Given the description of an element on the screen output the (x, y) to click on. 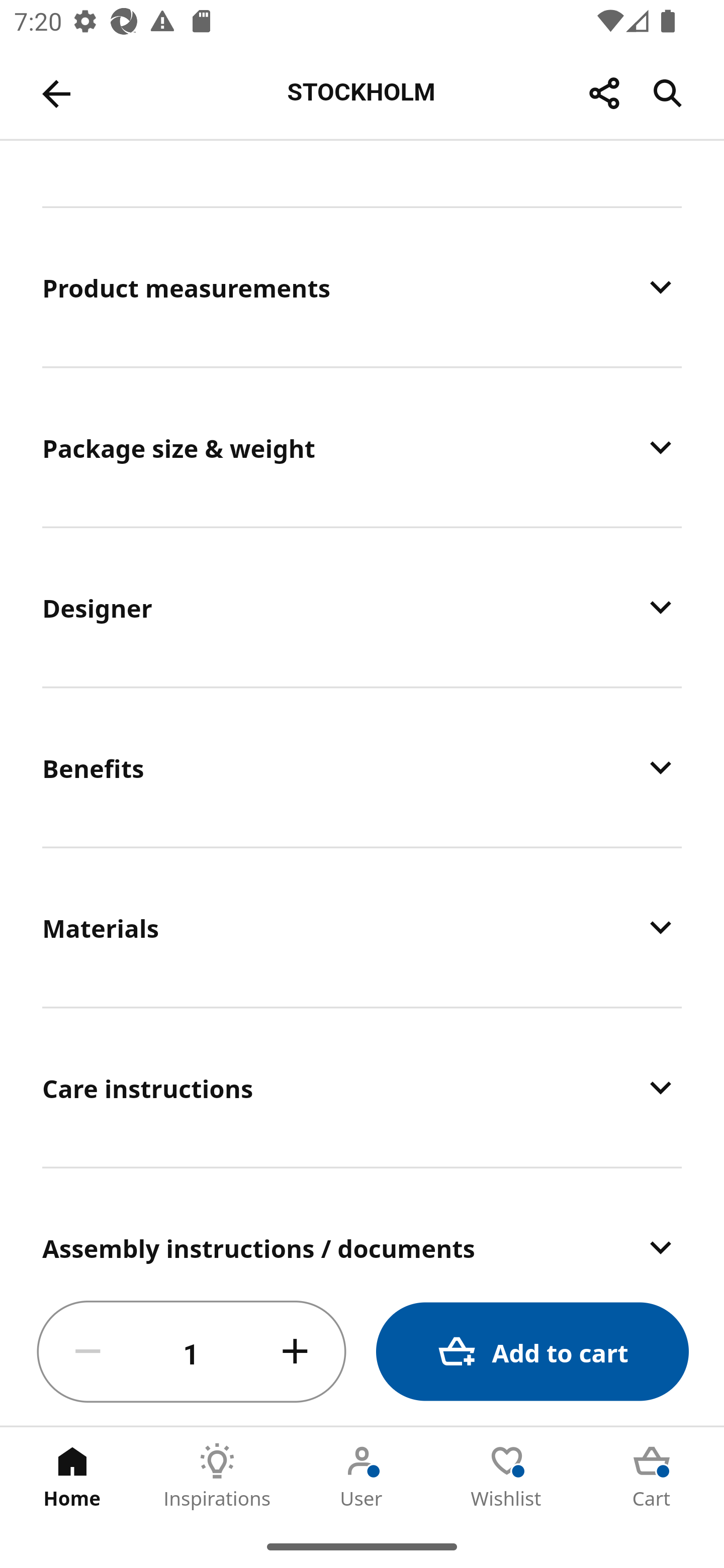
Product measurements (361, 286)
Package size & weight (361, 447)
Designer (361, 607)
Benefits (361, 767)
Materials (361, 927)
Care instructions (361, 1087)
Assembly instructions / documents (361, 1223)
Add to cart (531, 1352)
1 (191, 1352)
Home
Tab 1 of 5 (72, 1476)
Inspirations
Tab 2 of 5 (216, 1476)
User
Tab 3 of 5 (361, 1476)
Wishlist
Tab 4 of 5 (506, 1476)
Cart
Tab 5 of 5 (651, 1476)
